Given the description of an element on the screen output the (x, y) to click on. 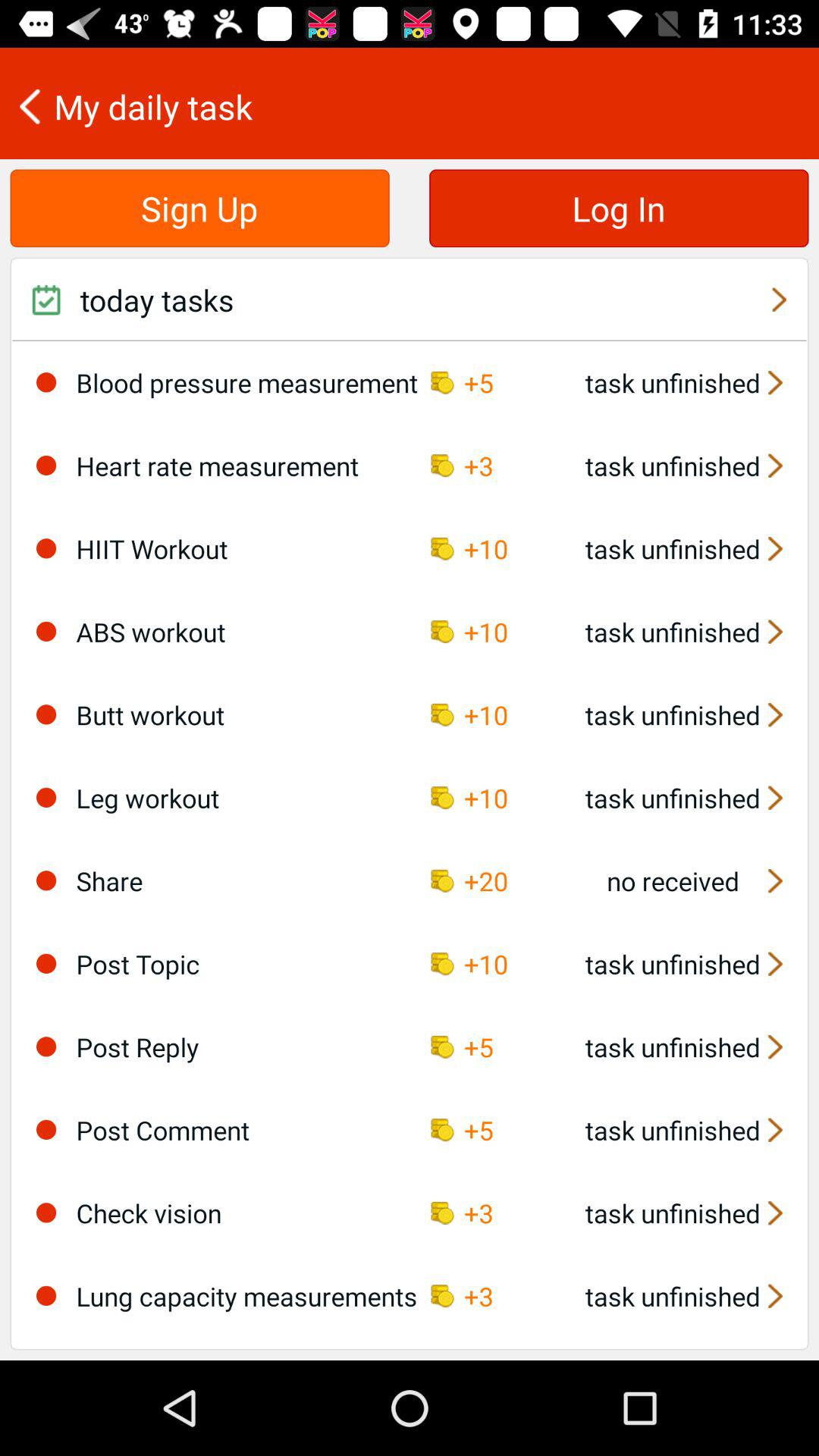
share task (46, 880)
